Given the description of an element on the screen output the (x, y) to click on. 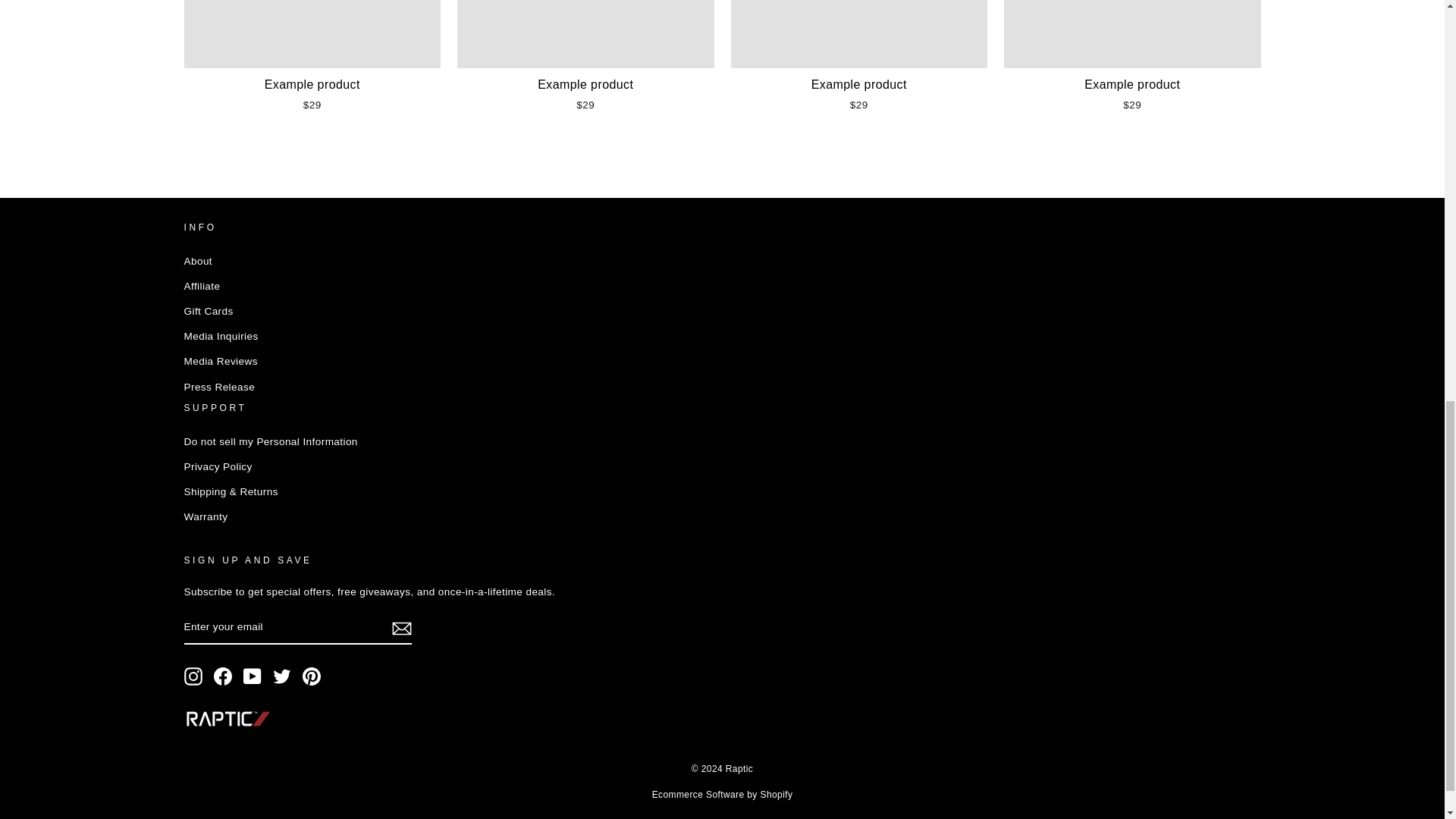
Raptic on YouTube (251, 676)
Raptic on Instagram (192, 676)
Raptic on Facebook (222, 676)
Raptic on Pinterest (310, 676)
Raptic on Twitter (282, 676)
